Given the description of an element on the screen output the (x, y) to click on. 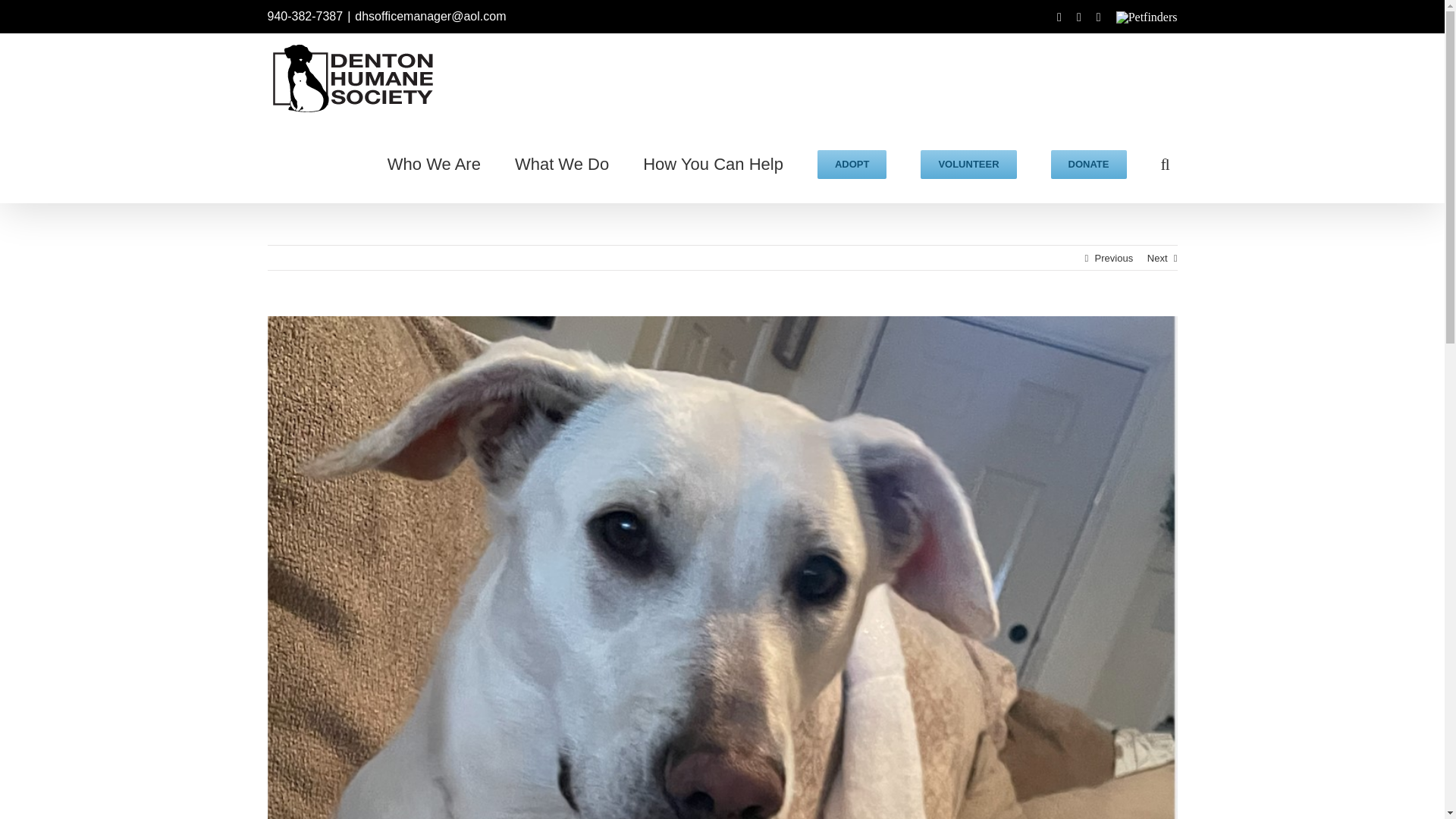
Who We Are (433, 163)
ADOPT (851, 163)
Petfinders (1146, 16)
What We Do (561, 163)
Previous (1114, 258)
Next (1157, 258)
DONATE (1088, 163)
Petfinders (1146, 16)
Rss (1079, 16)
Email (1098, 16)
Search (1168, 163)
Email (1098, 16)
How You Can Help (713, 163)
Rss (1079, 16)
